Given the description of an element on the screen output the (x, y) to click on. 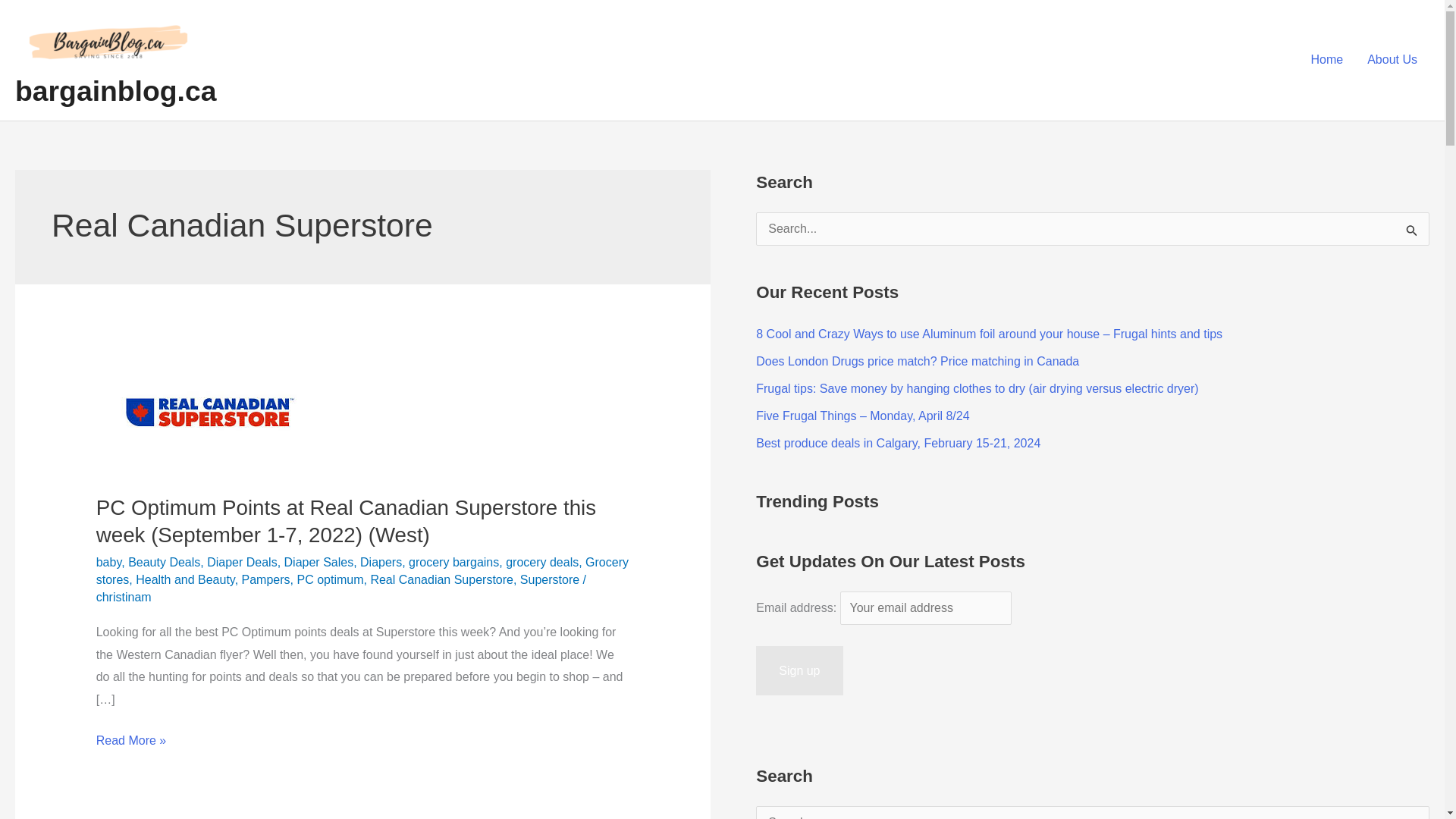
Beauty Deals (164, 562)
Health and Beauty (184, 579)
Search (1411, 812)
Sign up (799, 671)
Diapers (380, 562)
Grocery stores (362, 571)
Home (1326, 59)
Diaper Deals (241, 562)
bargainblog.ca (115, 91)
View all posts by christinam (123, 596)
